Given the description of an element on the screen output the (x, y) to click on. 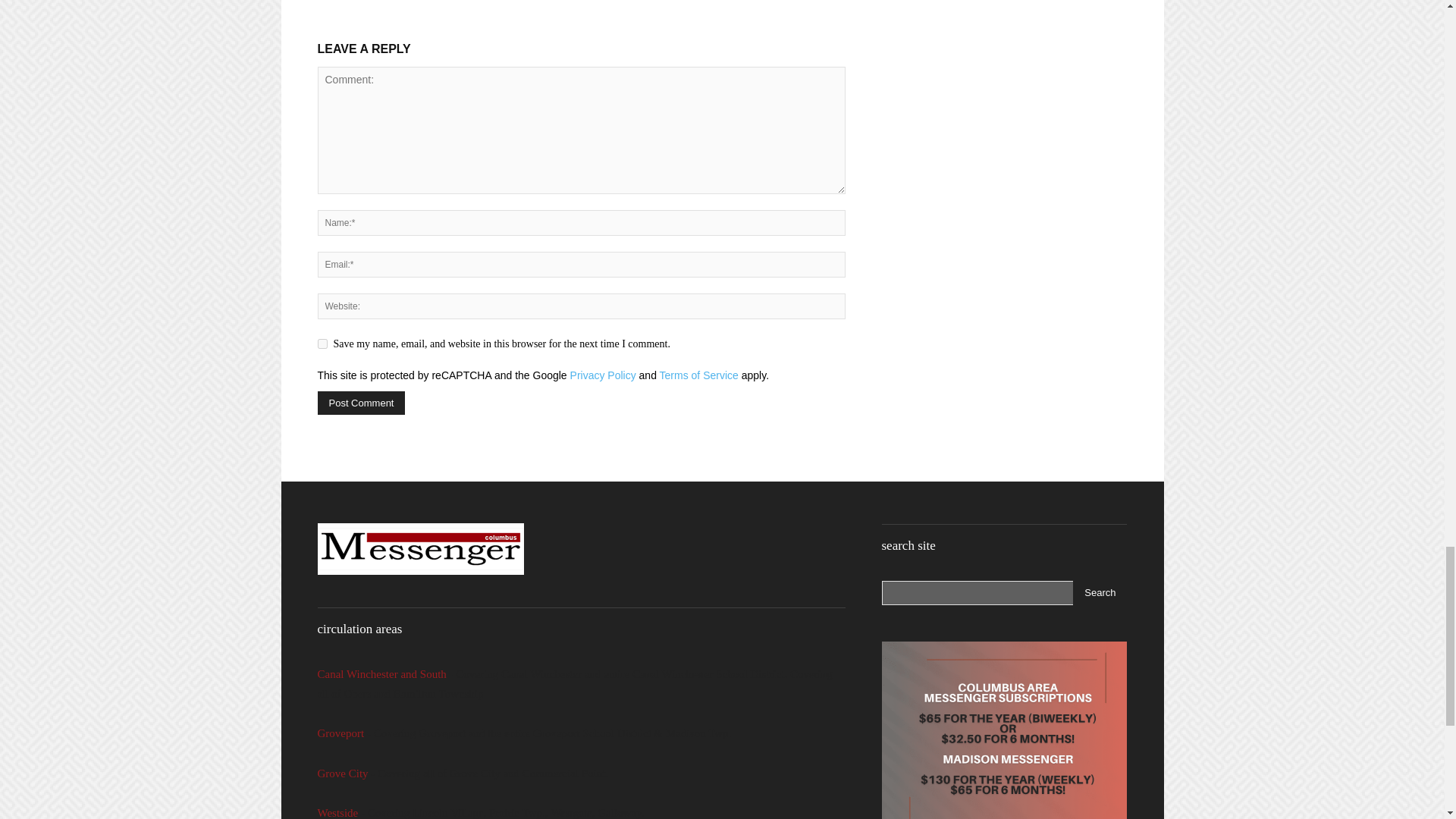
yes (321, 343)
Post Comment (360, 402)
Search (1099, 592)
